Given the description of an element on the screen output the (x, y) to click on. 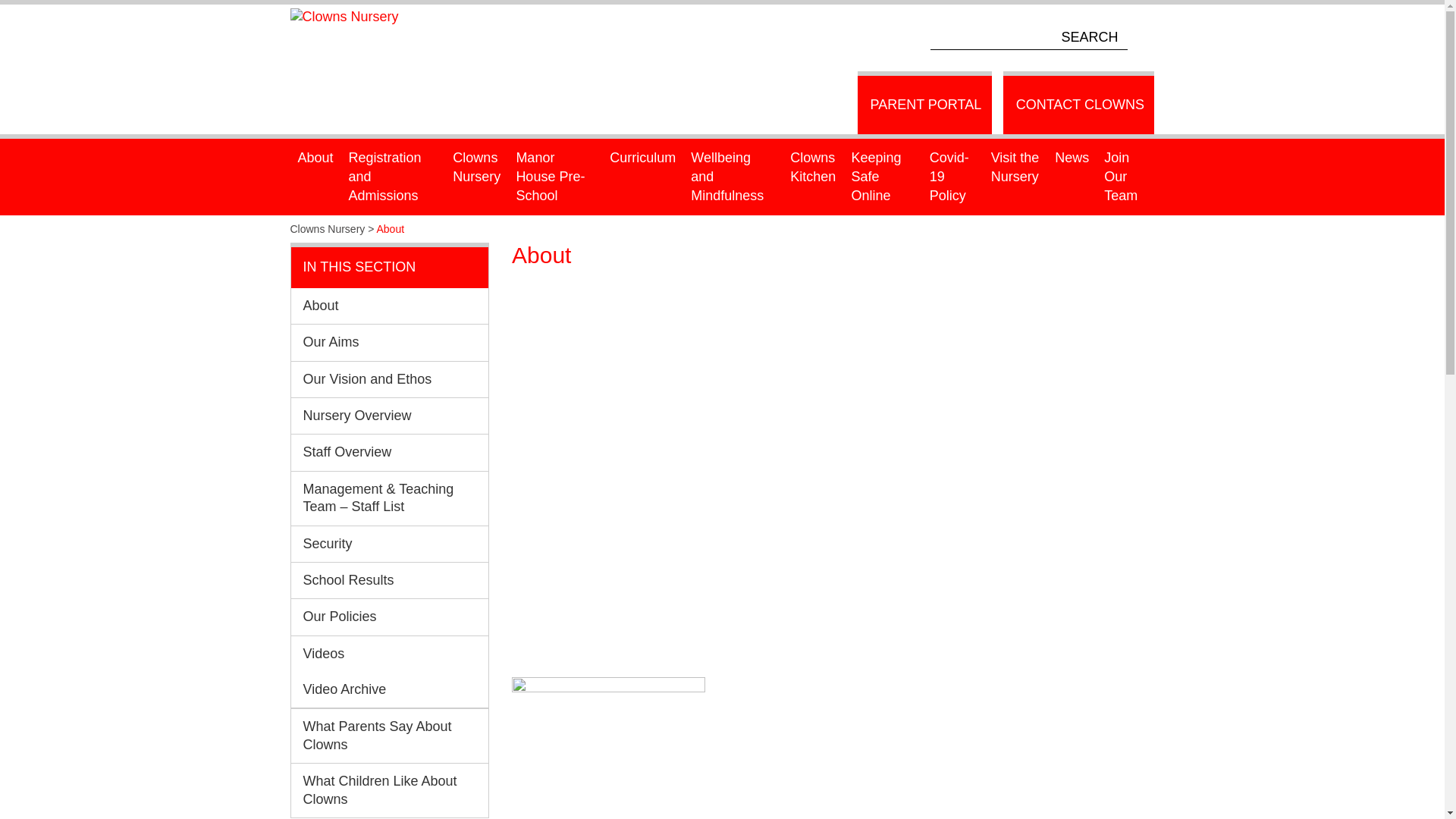
Clowns Nursery (349, 12)
Clowns Nursery (476, 167)
Go to Clowns Nursery. (327, 228)
Search (1142, 36)
Search (1142, 36)
Manor House Pre-School (555, 176)
About (314, 157)
CONTACT CLOWNS (1078, 102)
PARENT PORTAL (924, 102)
Registration and Admissions (392, 176)
Curriculum (642, 157)
